Given the description of an element on the screen output the (x, y) to click on. 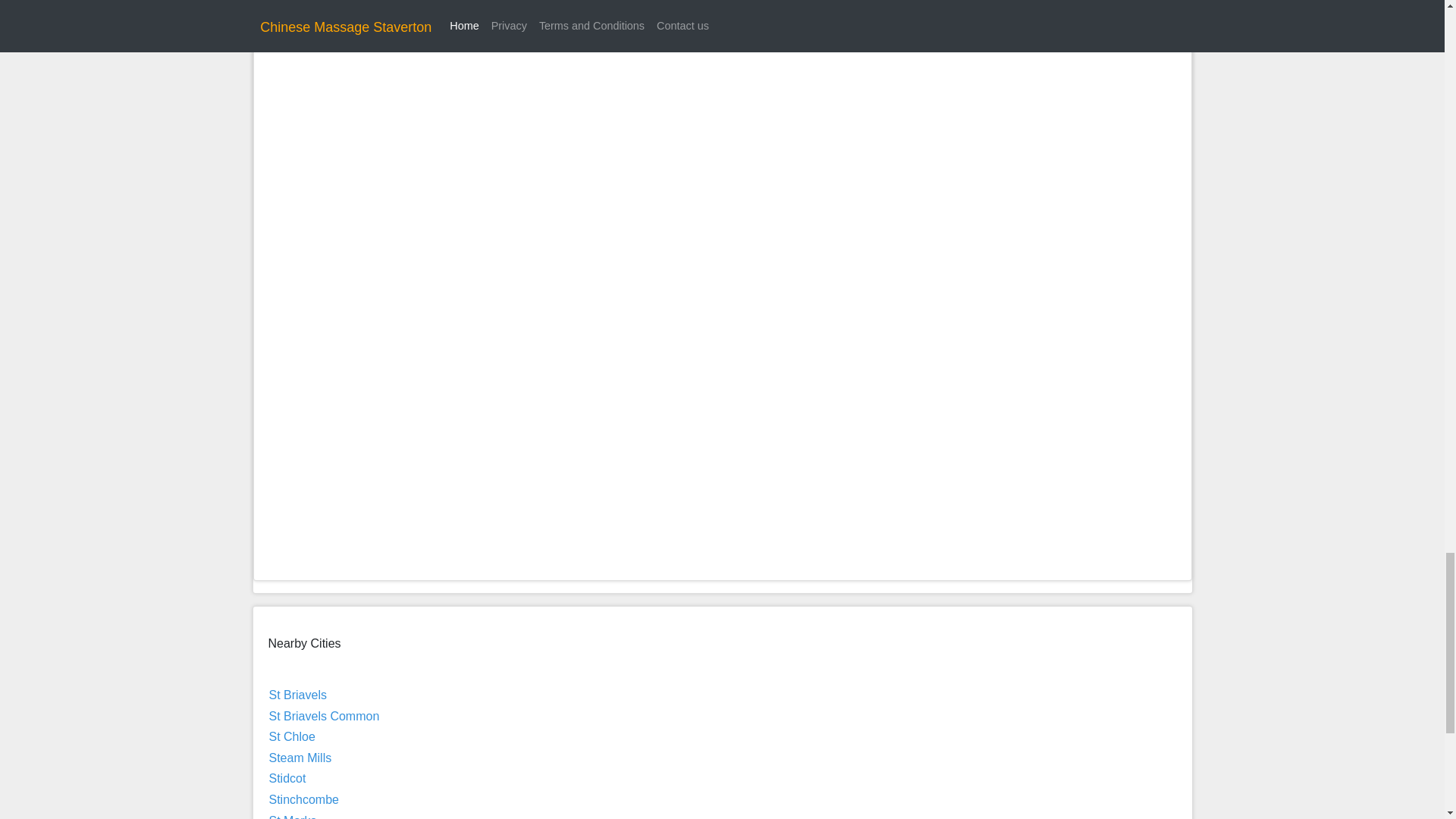
St Marks (291, 816)
Steam Mills (299, 757)
Stinchcombe (303, 799)
Stidcot (286, 778)
St Briavels Common (322, 716)
St Briavels (296, 694)
St Chloe (290, 736)
